Given the description of an element on the screen output the (x, y) to click on. 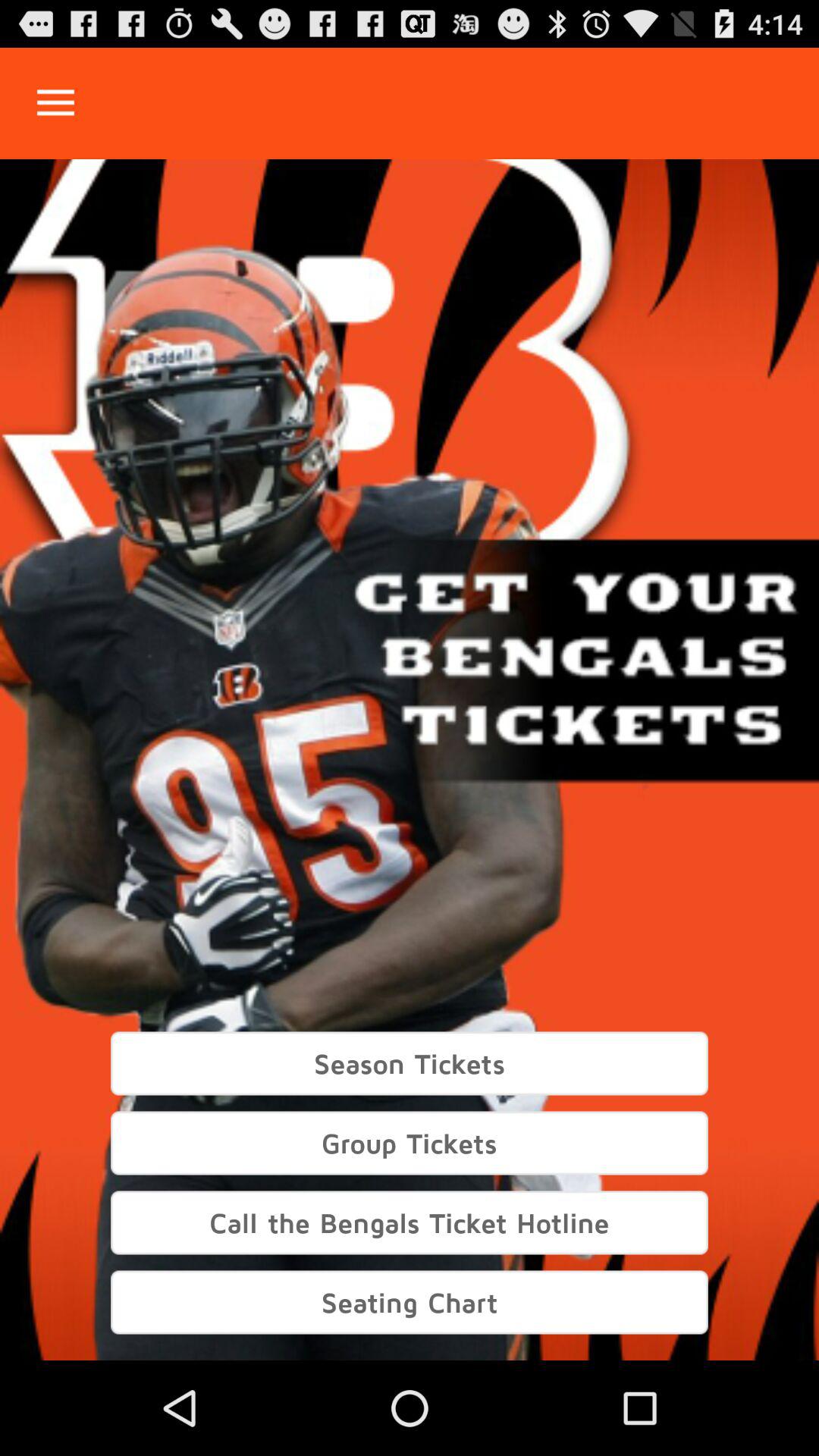
go to home (55, 103)
